Given the description of an element on the screen output the (x, y) to click on. 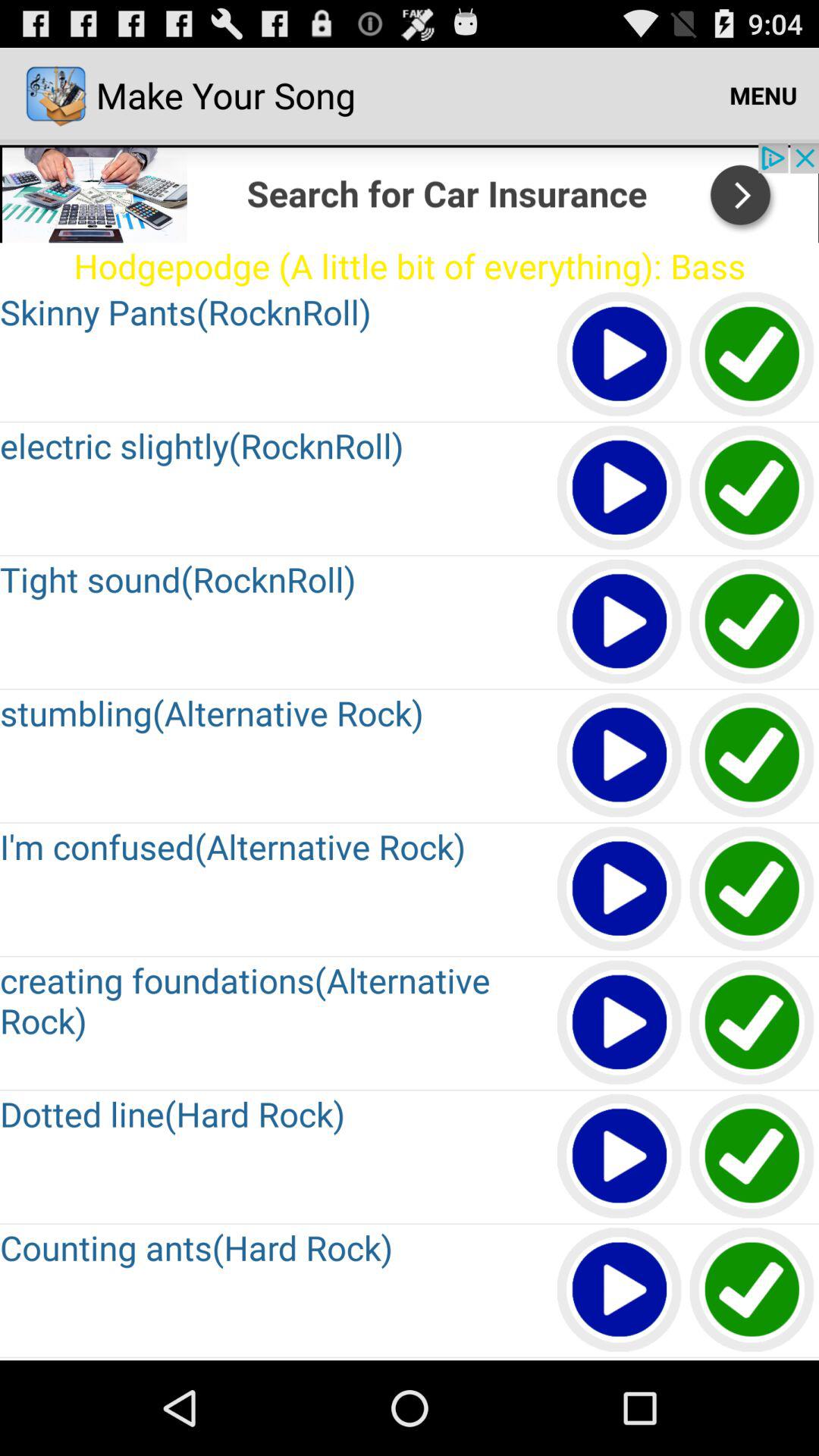
select this sound (752, 1290)
